Given the description of an element on the screen output the (x, y) to click on. 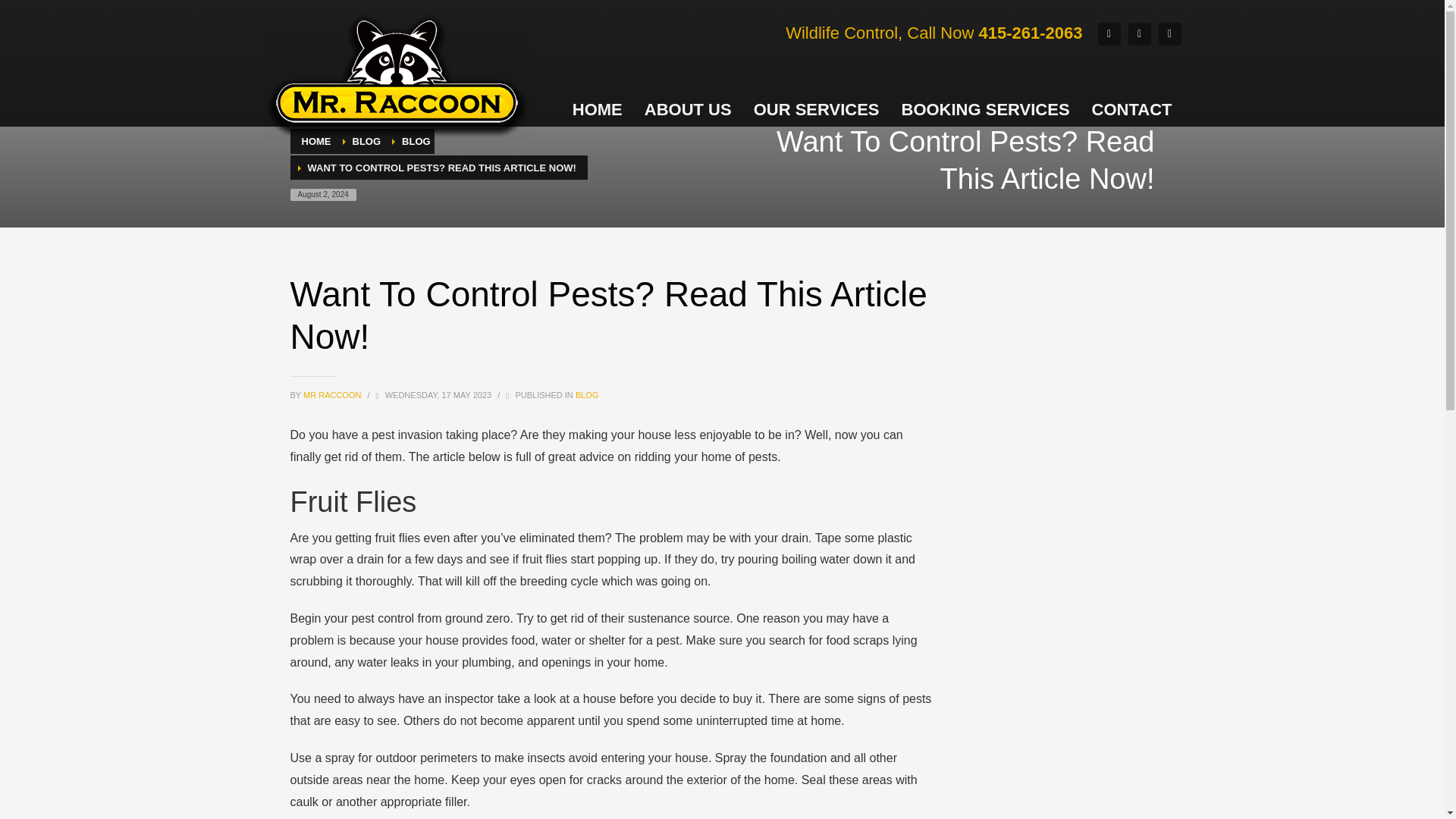
Facebook (1109, 33)
BOOKING SERVICES (984, 109)
HOME (316, 141)
415-261-2063 (1029, 31)
MR RACCOON (332, 394)
BLOG (366, 141)
Yelp (1169, 33)
Google Plus (1139, 33)
BLOG (586, 394)
Blog (366, 141)
